Given the description of an element on the screen output the (x, y) to click on. 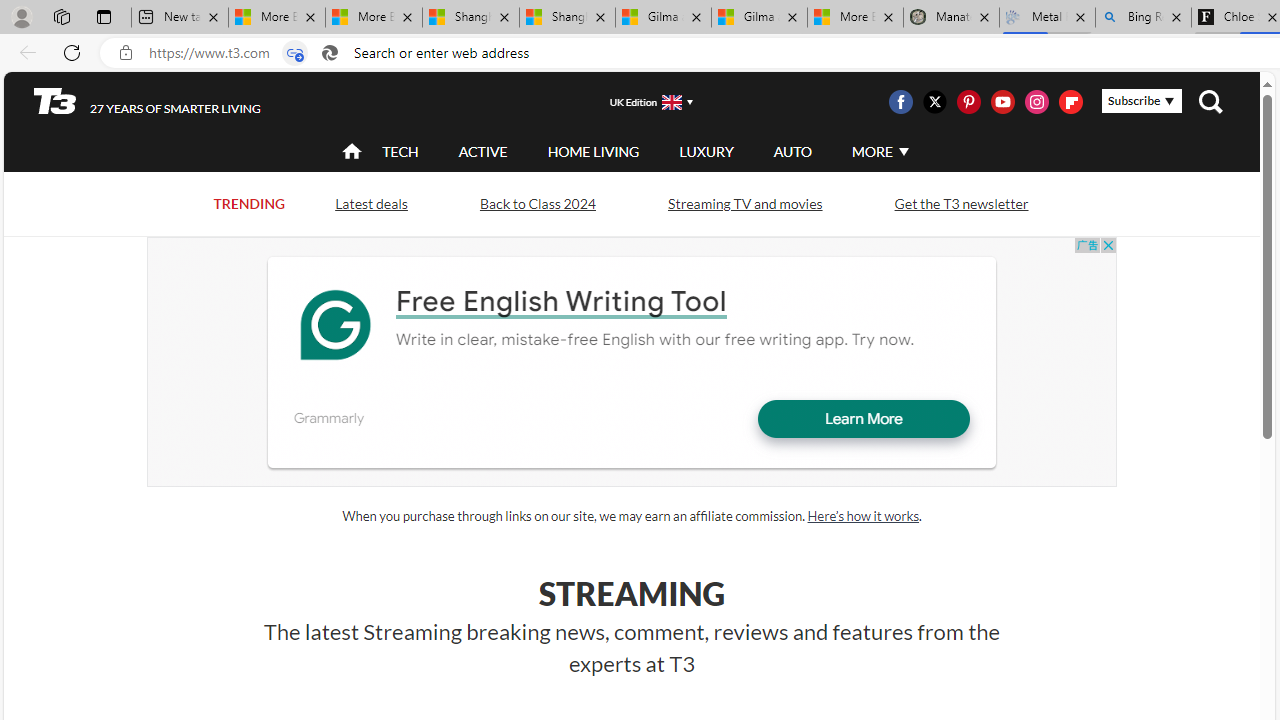
Class: svg-arrow-down (903, 151)
MORE  (878, 151)
home (352, 152)
Bing Real Estate - Home sales and rental listings (1143, 17)
Get the T3 newsletter (961, 202)
Visit us on Instagram (1037, 101)
HOME LIVING (593, 151)
Class: navigation__item (350, 151)
Streaming TV and movies (744, 202)
T3 27 YEARS OF SMARTER LIVING (147, 101)
